Given the description of an element on the screen output the (x, y) to click on. 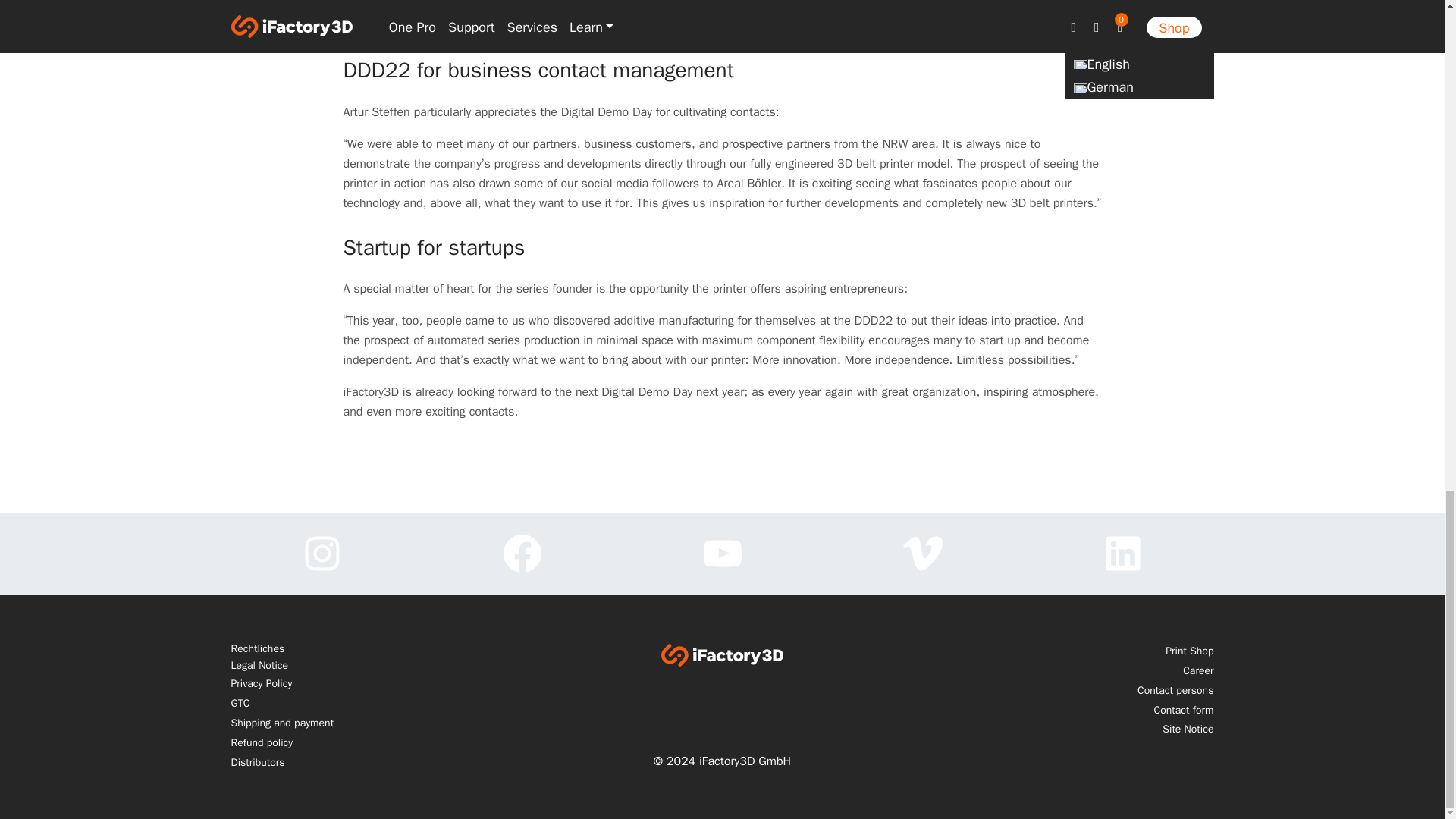
Instagram (320, 553)
Privacy Policy (388, 685)
Distributors (388, 762)
Print Shop (1055, 652)
Shipping and payment (388, 724)
One Pro (824, 6)
Refund policy (388, 744)
LinkedIn (1121, 553)
Vimeo (921, 553)
GTC (388, 704)
